Given the description of an element on the screen output the (x, y) to click on. 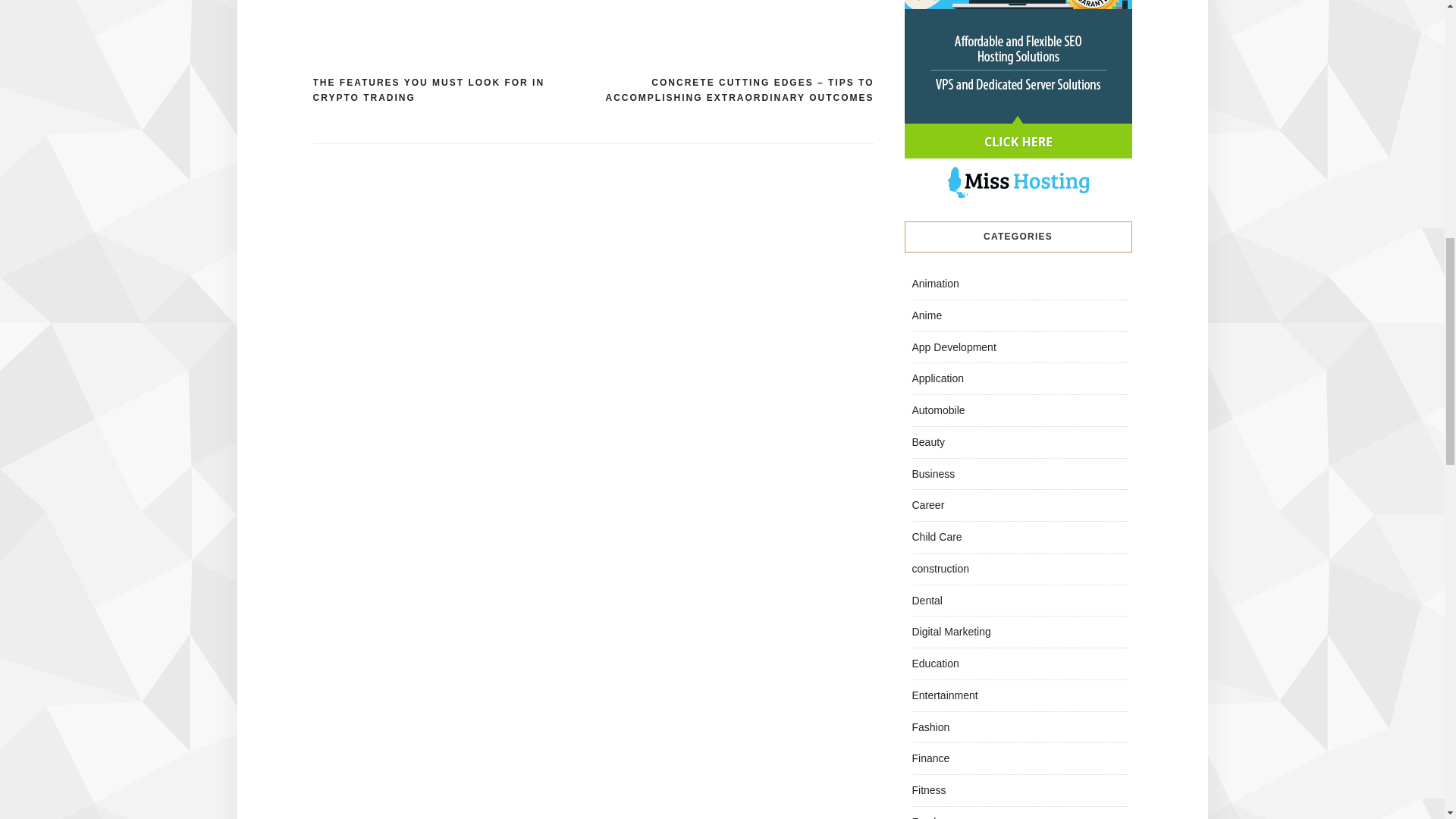
Entertainment (943, 695)
Fashion (930, 726)
Automobile (937, 410)
Anime (926, 315)
App Development (953, 346)
Beauty (927, 441)
Animation (934, 283)
Dental (926, 600)
Career (927, 504)
Education (934, 663)
Business (933, 472)
Finance (930, 758)
Child Care (935, 536)
THE FEATURES YOU MUST LOOK FOR IN CRYPTO TRADING (452, 90)
Application (937, 378)
